Given the description of an element on the screen output the (x, y) to click on. 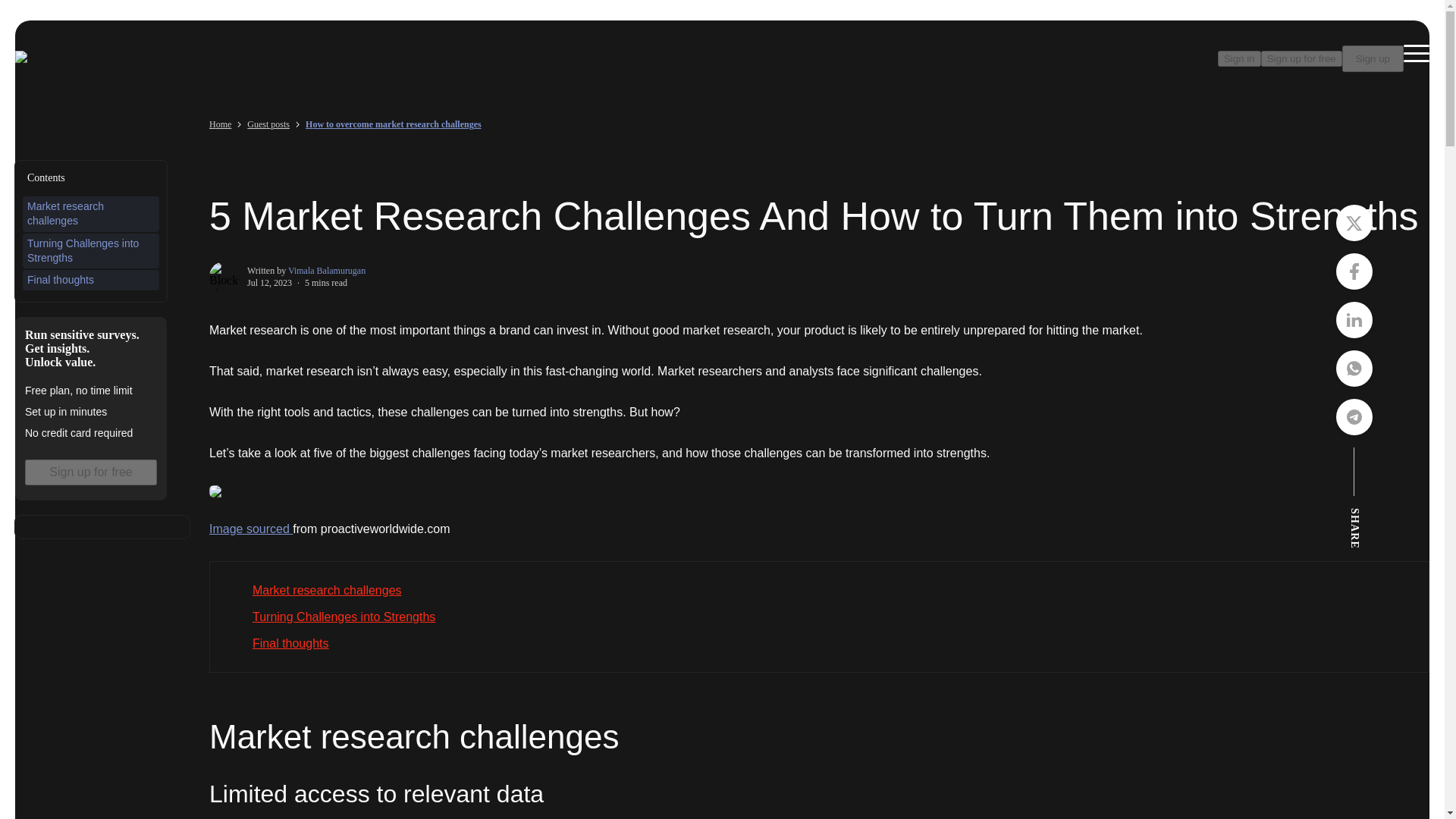
Sign up for free (1301, 58)
Sign up (1372, 58)
how to overcome market research challenges (393, 124)
Sign in (1238, 58)
Home (220, 124)
guest posts (268, 124)
